Given the description of an element on the screen output the (x, y) to click on. 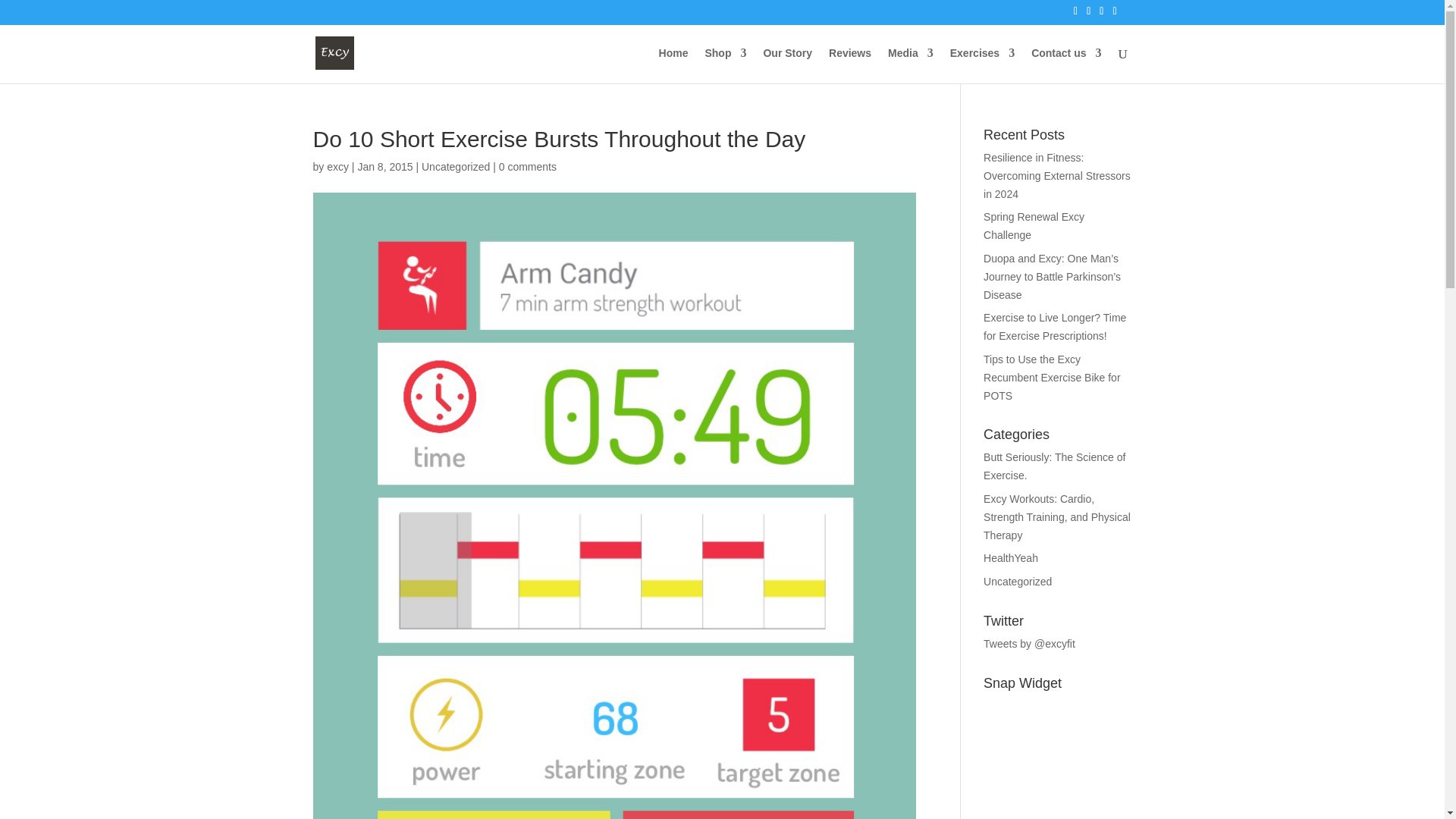
Exercises (982, 65)
Instagram Widget (1057, 758)
Shop (724, 65)
Contact us (1065, 65)
About the Excy Team (787, 65)
Excy Customer Reviews (849, 65)
Reviews (849, 65)
Media (910, 65)
Posts by excy (337, 166)
Our Story (787, 65)
